Given the description of an element on the screen output the (x, y) to click on. 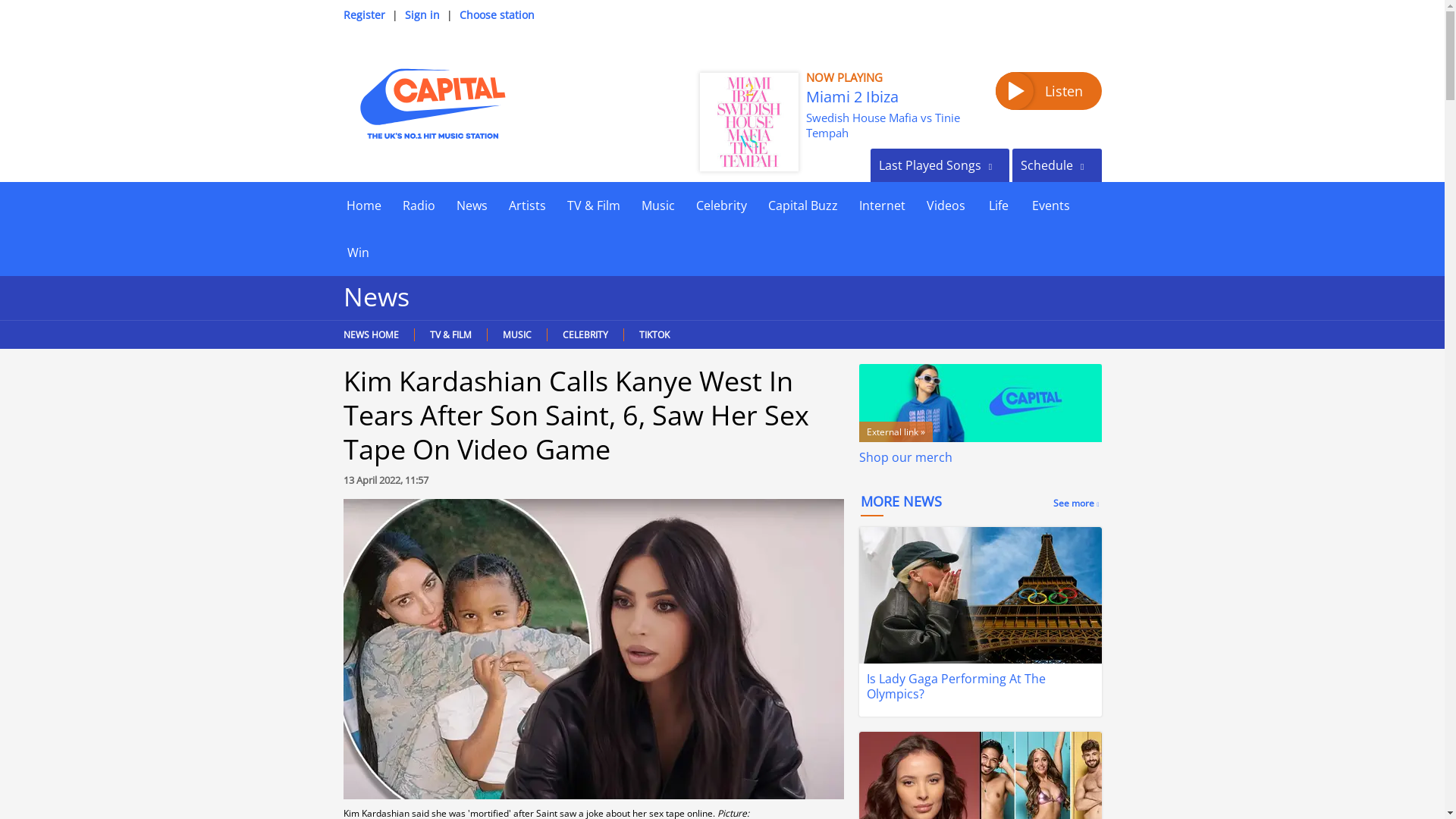
Music (657, 205)
CELEBRITY (584, 334)
TIKTOK (653, 334)
MUSIC (516, 334)
Events (1050, 205)
Schedule (1055, 164)
Celebrity (721, 205)
Videos (945, 205)
Home (362, 205)
Choose station (497, 14)
Capital Buzz (802, 205)
Listen (1047, 90)
Sign in (421, 14)
Capital (431, 103)
Radio (418, 205)
